Given the description of an element on the screen output the (x, y) to click on. 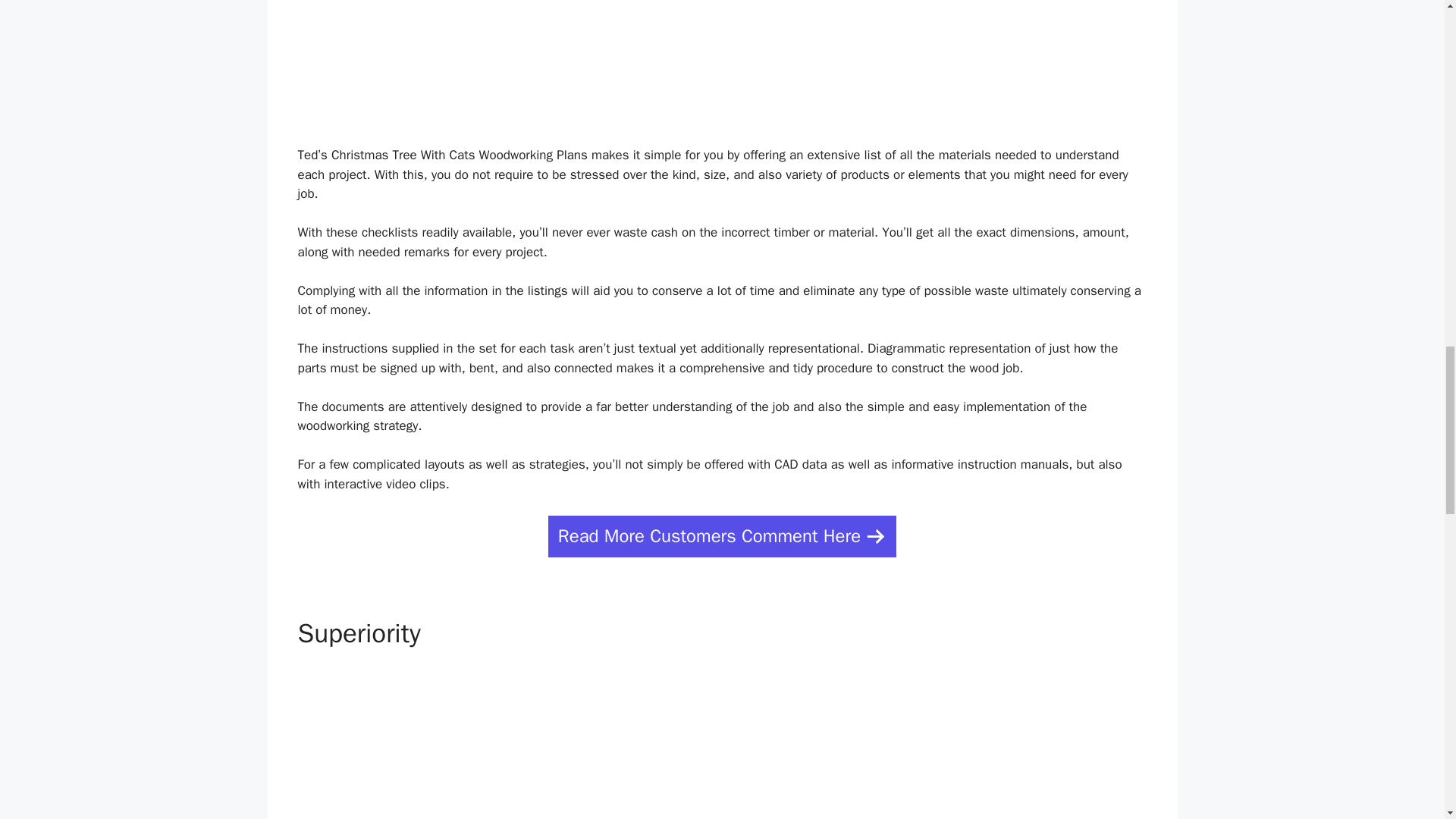
Read More Customers Comment Here (722, 536)
